Given the description of an element on the screen output the (x, y) to click on. 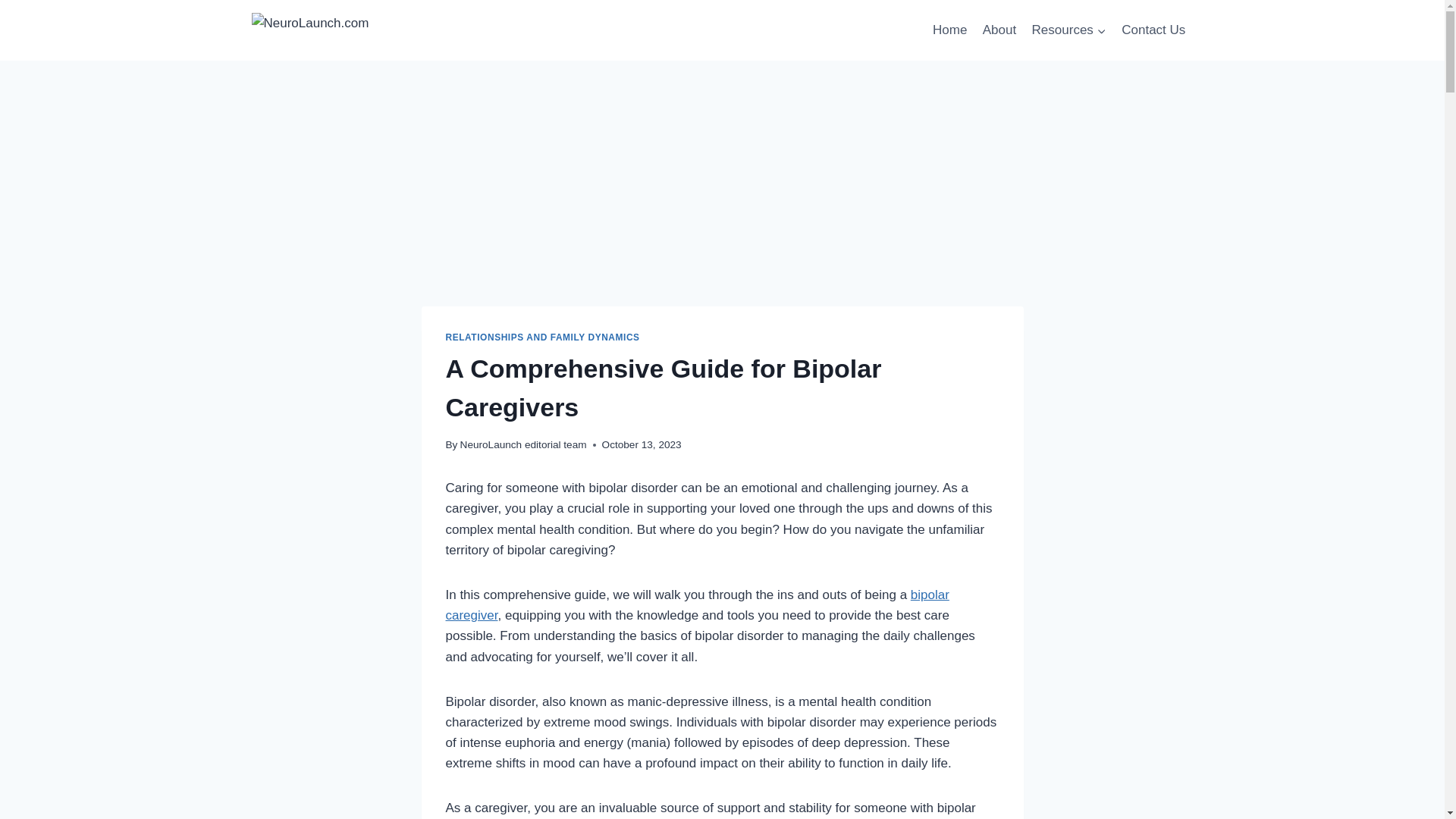
RELATIONSHIPS AND FAMILY DYNAMICS (542, 337)
bipolar caregiver (697, 605)
About (1000, 30)
Resources (1068, 30)
NeuroLaunch editorial team (523, 444)
Home (949, 30)
Contact Us (1152, 30)
bipolar caregiver (697, 605)
